Given the description of an element on the screen output the (x, y) to click on. 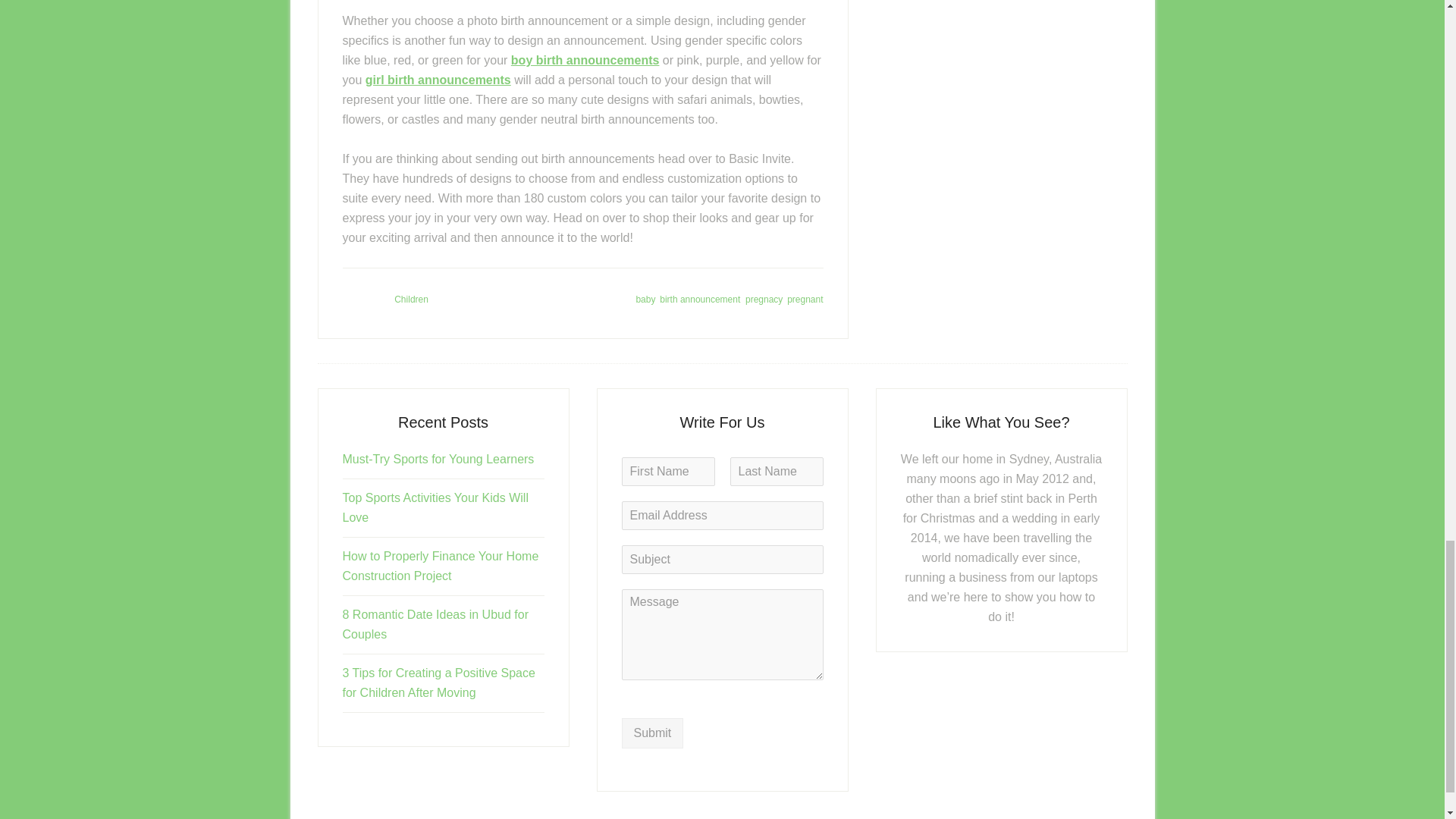
Top Sports Activities Your Kids Will Love (435, 507)
boy birth announcements (585, 60)
baby (643, 299)
Children (411, 299)
girl birth announcements (438, 79)
pregnant (804, 299)
How to Properly Finance Your Home Construction Project (440, 565)
birth announcement (699, 299)
pregnacy (763, 299)
Submit (652, 733)
Must-Try Sports for Young Learners (438, 459)
8 Romantic Date Ideas in Ubud for Couples (435, 624)
